Given the description of an element on the screen output the (x, y) to click on. 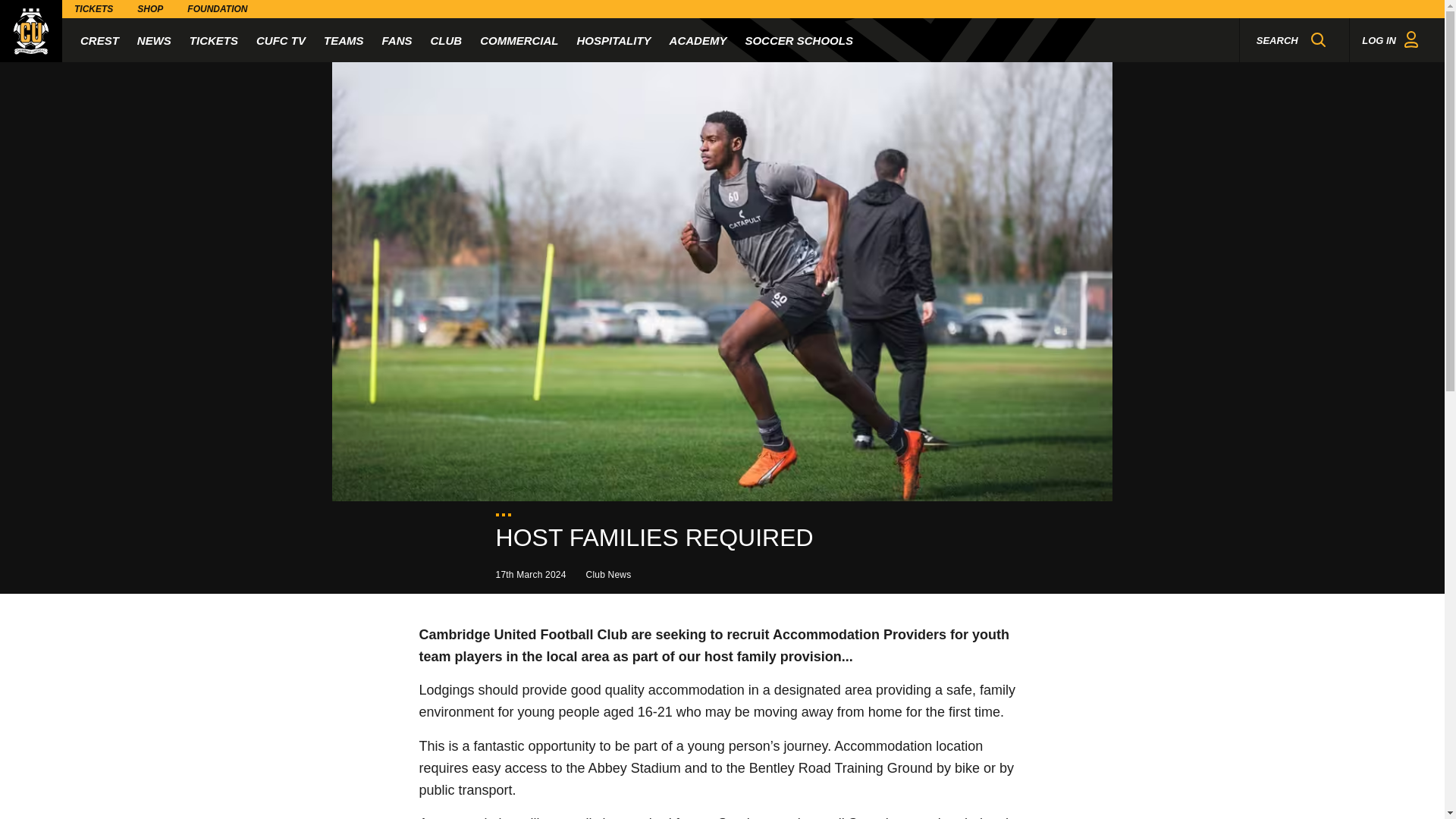
Commerical opportunities at Cambridge United (518, 40)
CUFC TV (280, 40)
FOUNDATION (216, 9)
TEAMS (343, 40)
Back to home (31, 31)
TICKETS (93, 9)
SHOP (149, 9)
TICKETS (213, 40)
